Given the description of an element on the screen output the (x, y) to click on. 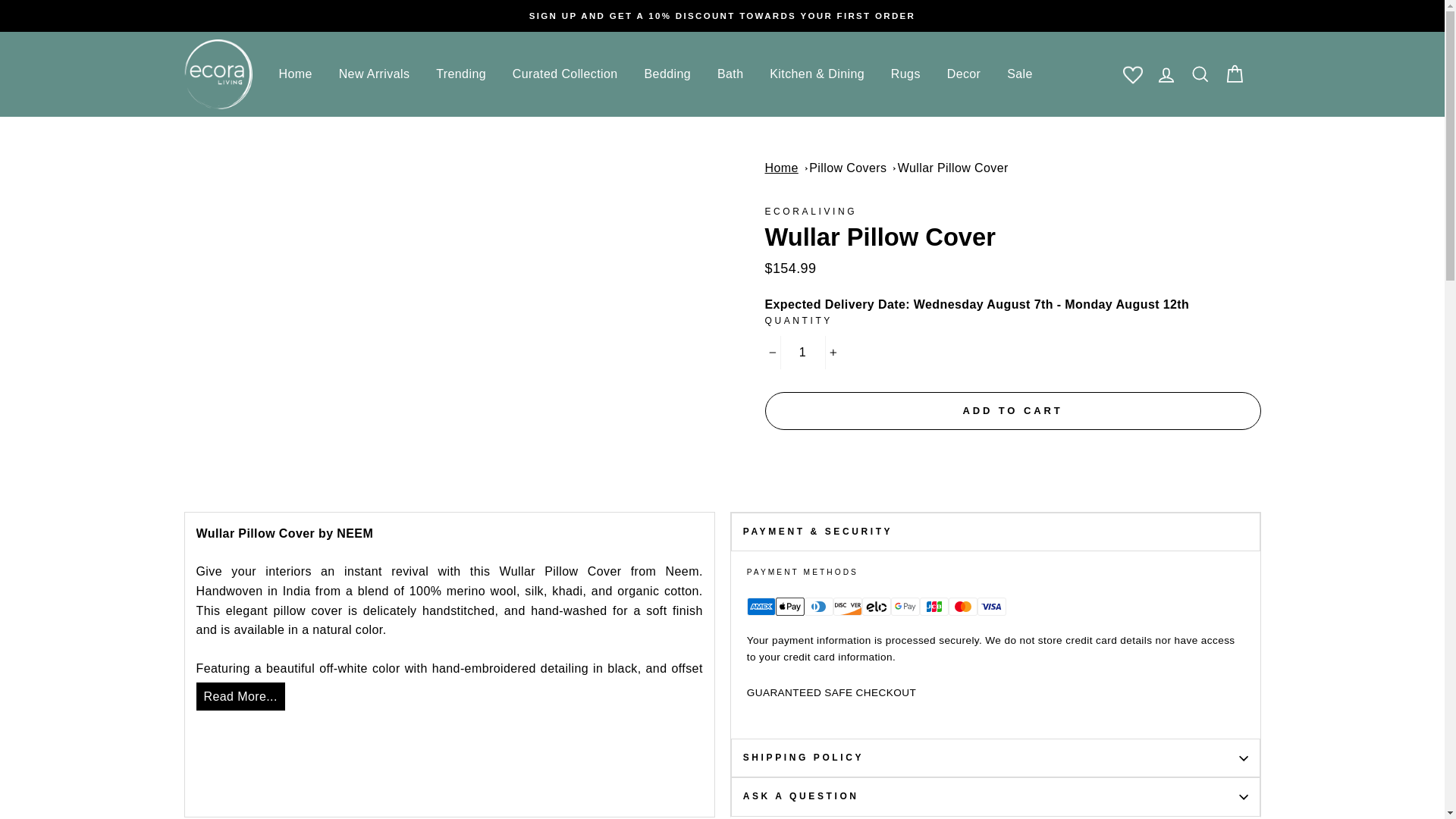
1 (802, 352)
